Given the description of an element on the screen output the (x, y) to click on. 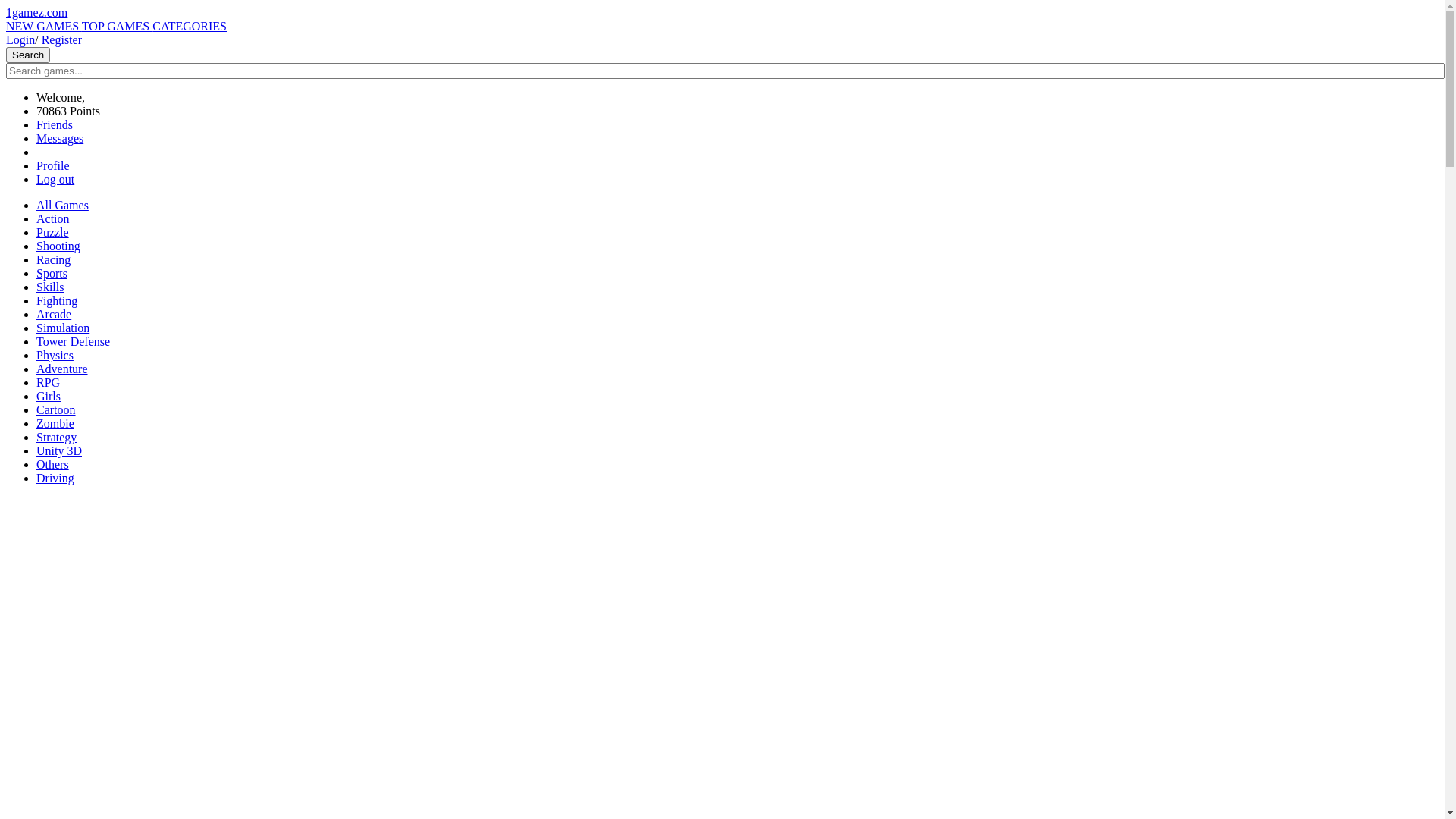
Unity 3D Element type: text (58, 450)
CATEGORIES Element type: text (189, 25)
All Games Element type: text (62, 204)
Arcade Element type: text (53, 313)
Puzzle Element type: text (52, 231)
RPG Element type: text (47, 382)
Physics Element type: text (54, 354)
Zombie Element type: text (55, 423)
Racing Element type: text (53, 259)
Others Element type: text (52, 464)
Login Element type: text (20, 39)
Skills Element type: text (49, 286)
Strategy Element type: text (56, 436)
Shooting Element type: text (58, 245)
Tower Defense Element type: text (72, 341)
Messages Element type: text (59, 137)
NEW GAMES Element type: text (43, 25)
Friends Element type: text (54, 124)
Search Element type: text (28, 54)
Sports Element type: text (51, 272)
Action Element type: text (52, 218)
Adventure Element type: text (61, 368)
Girls Element type: text (48, 395)
Login/ Register Element type: text (43, 39)
Profile Element type: text (52, 165)
Register Element type: text (61, 39)
Cartoon Element type: text (55, 409)
Advertisement Element type: hover (721, 603)
Simulation Element type: text (62, 327)
TOP GAMES Element type: text (116, 25)
1gamez.com Element type: text (36, 12)
Fighting Element type: text (56, 300)
Log out Element type: text (55, 178)
Driving Element type: text (55, 477)
